Given the description of an element on the screen output the (x, y) to click on. 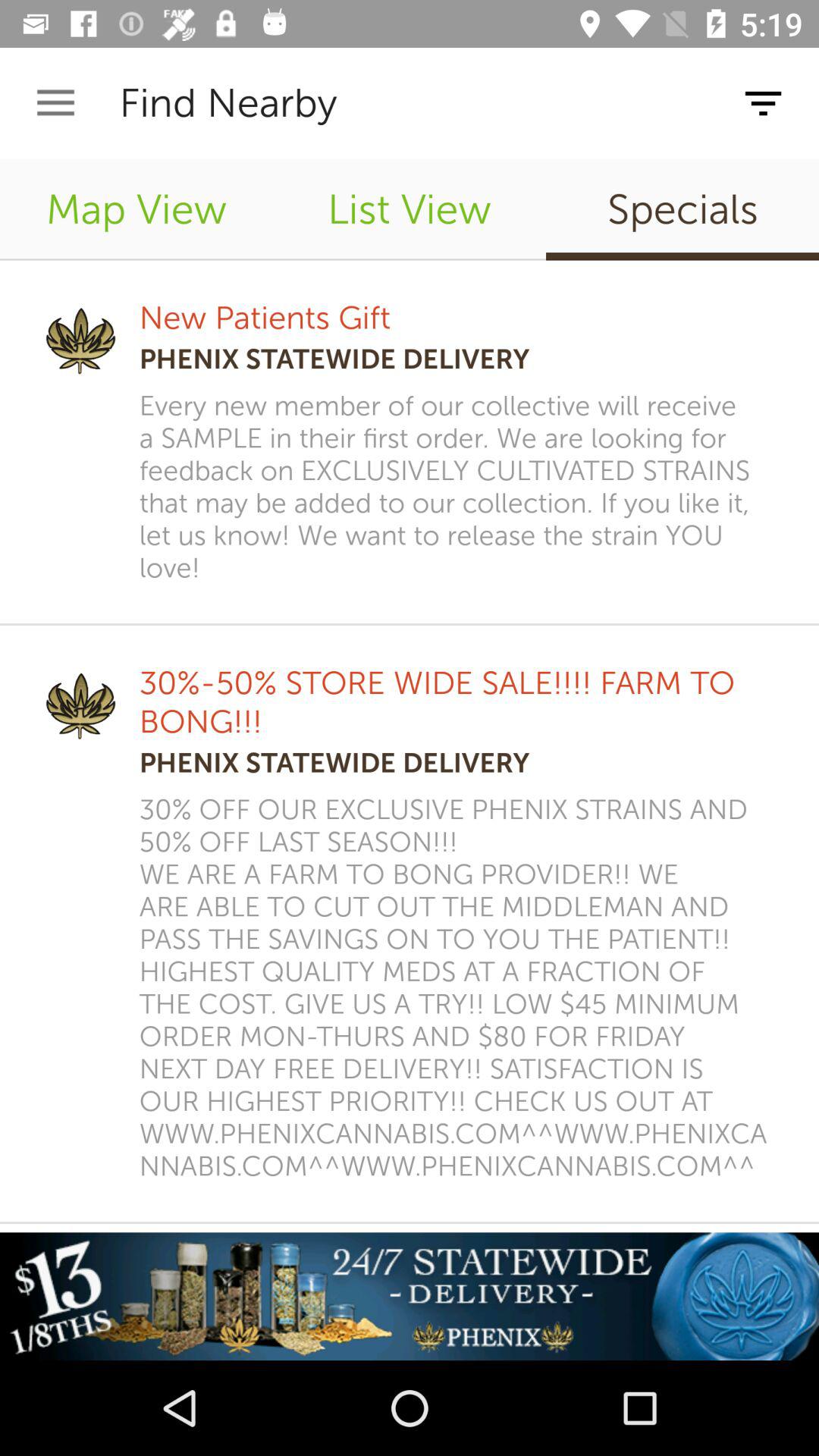
flip until the new patients gift item (264, 317)
